Given the description of an element on the screen output the (x, y) to click on. 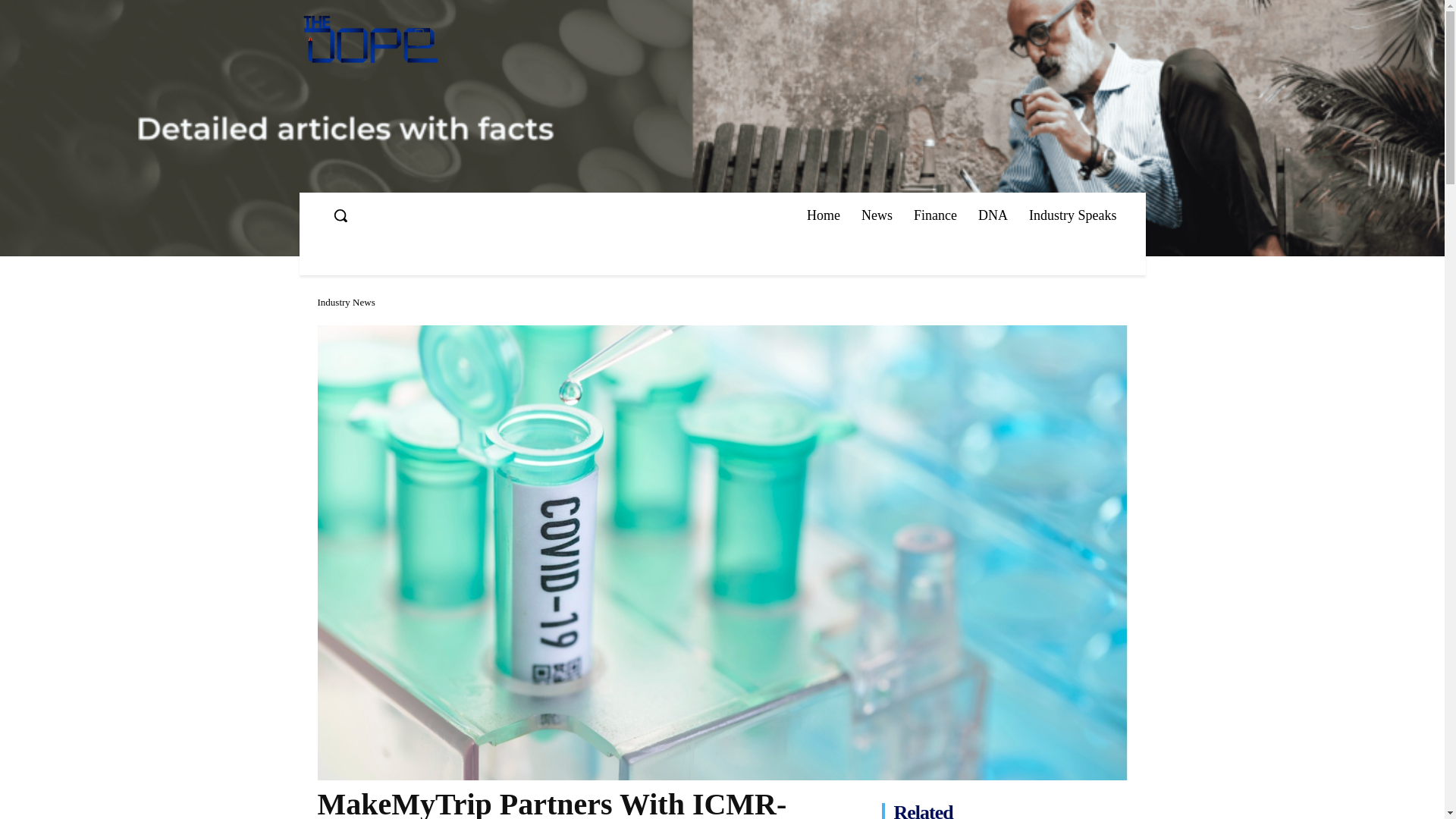
Industry News (345, 302)
DNA (992, 215)
Finance (935, 215)
Home (823, 215)
News (876, 215)
Industry Speaks (1071, 215)
